Given the description of an element on the screen output the (x, y) to click on. 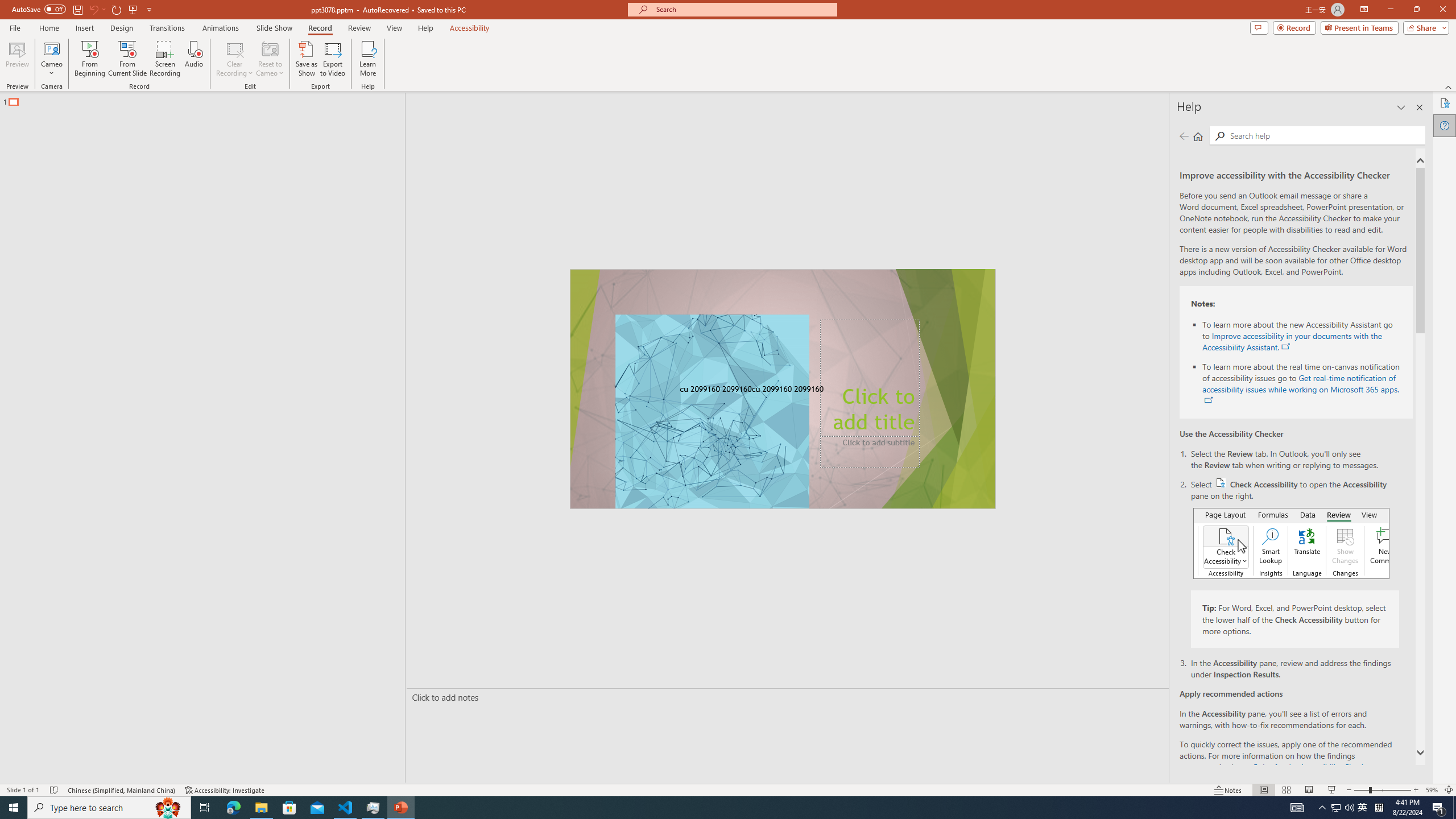
PyCharm 2022.2 (163, 487)
auto.py (163, 708)
2304.09121v3.pdf (1275, 26)
symbol_LLM.pdf (1210, 102)
2312.03032v2.pdf (1275, 254)
Visual Studio Code (32, 335)
CloudCompare (163, 102)
